Given the description of an element on the screen output the (x, y) to click on. 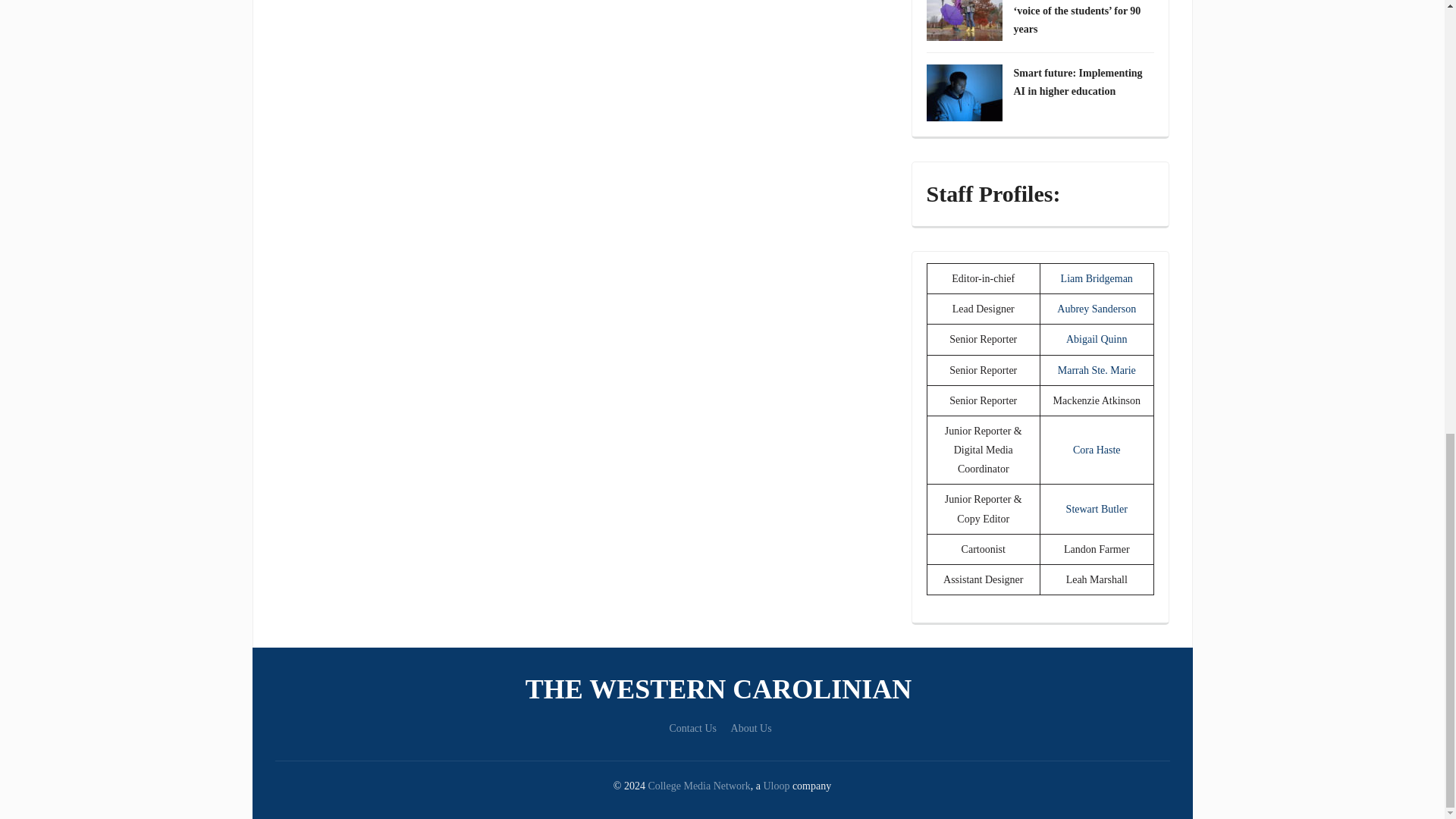
Western Carolina University's source for student-led news. (721, 688)
